Given the description of an element on the screen output the (x, y) to click on. 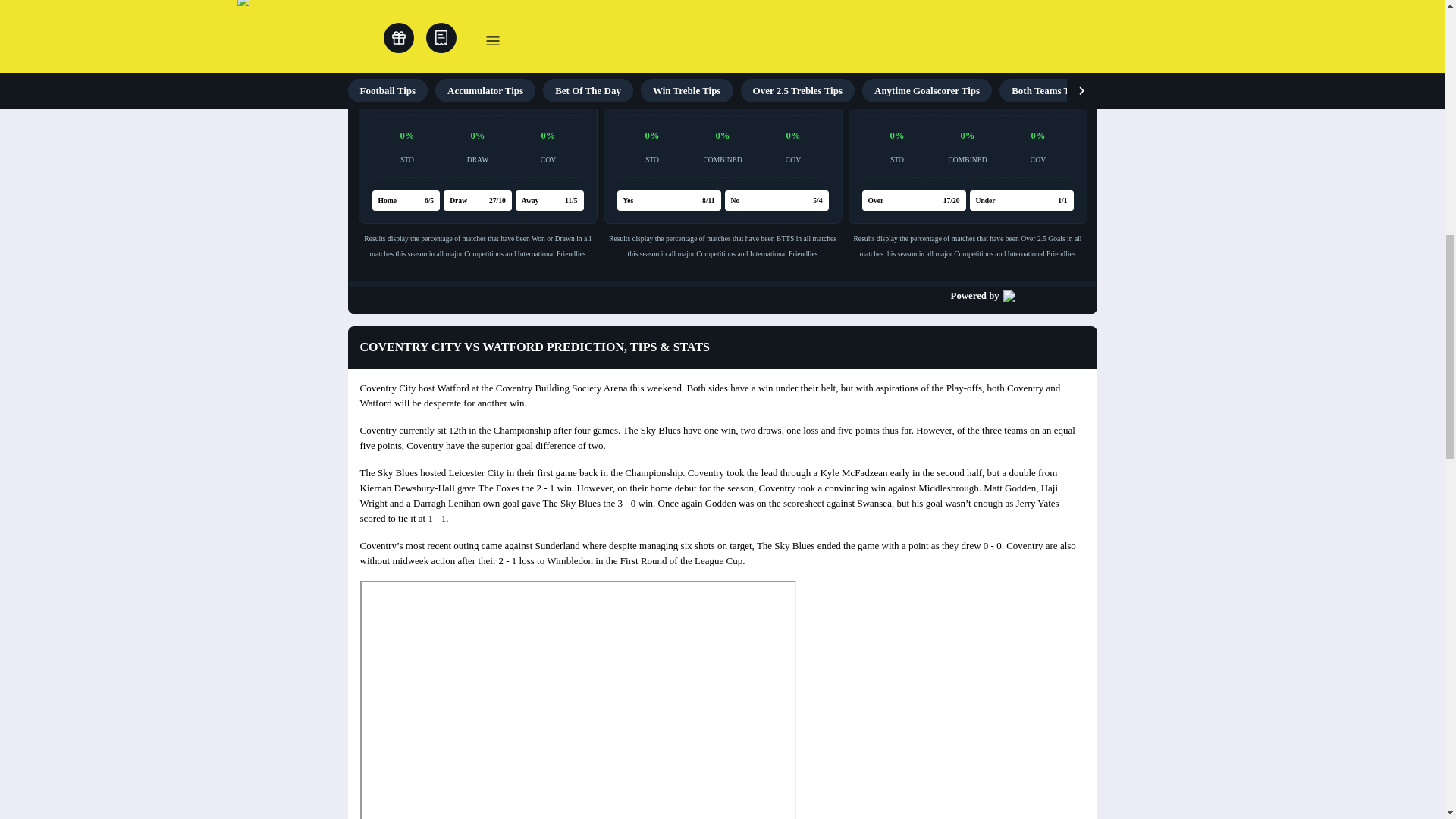
Youtube Video (576, 699)
